Given the description of an element on the screen output the (x, y) to click on. 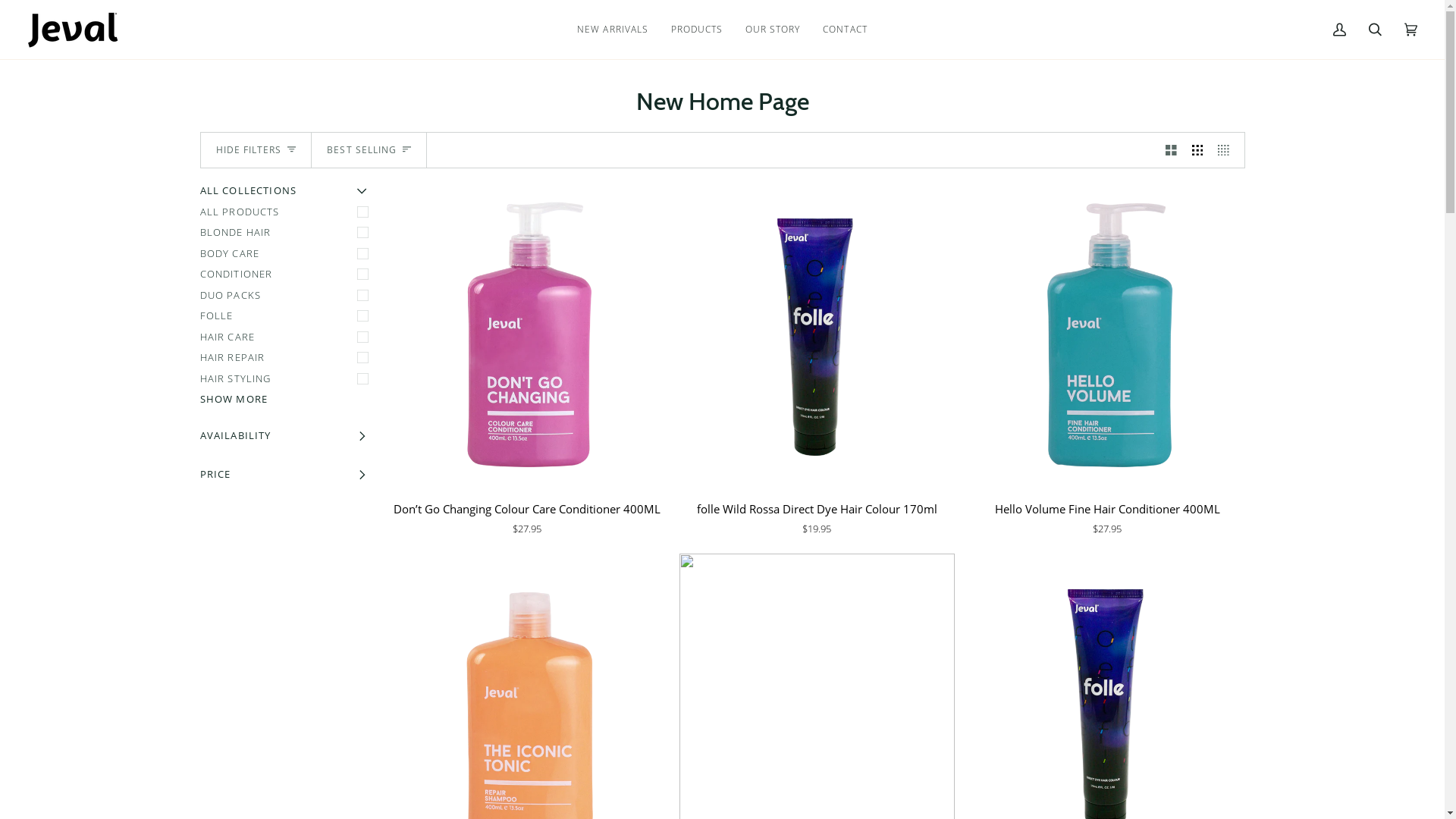
My Account Element type: text (1339, 29)
PRODUCTS Element type: text (696, 29)
ALL PRODUCTS Element type: text (287, 211)
Filter Element type: text (98, 14)
BLONDE HAIR Element type: text (287, 232)
BODY CARE Element type: text (287, 253)
HAIR REPAIR Element type: text (287, 357)
FOLLE Element type: text (287, 315)
AVAILABILITY
EXPAND MENU
HIDE MENU Element type: text (287, 437)
CONTACT Element type: text (844, 29)
ALL COLLECTIONS
EXPAND MENU
HIDE MENU Element type: text (287, 192)
PRICE
EXPAND MENU
HIDE MENU Element type: text (287, 476)
HAIR STYLING Element type: text (287, 378)
Cart
(0) Element type: text (1410, 29)
HAIR CARE Element type: text (287, 337)
OUR STORY Element type: text (772, 29)
BEST SELLING Element type: text (368, 149)
SHOW MORE Element type: text (287, 399)
CONDITIONER Element type: text (287, 274)
HIDE FILTERS Element type: text (255, 149)
DUO PACKS Element type: text (287, 295)
NEW ARRIVALS Element type: text (611, 29)
Search Element type: text (1375, 29)
